Given the description of an element on the screen output the (x, y) to click on. 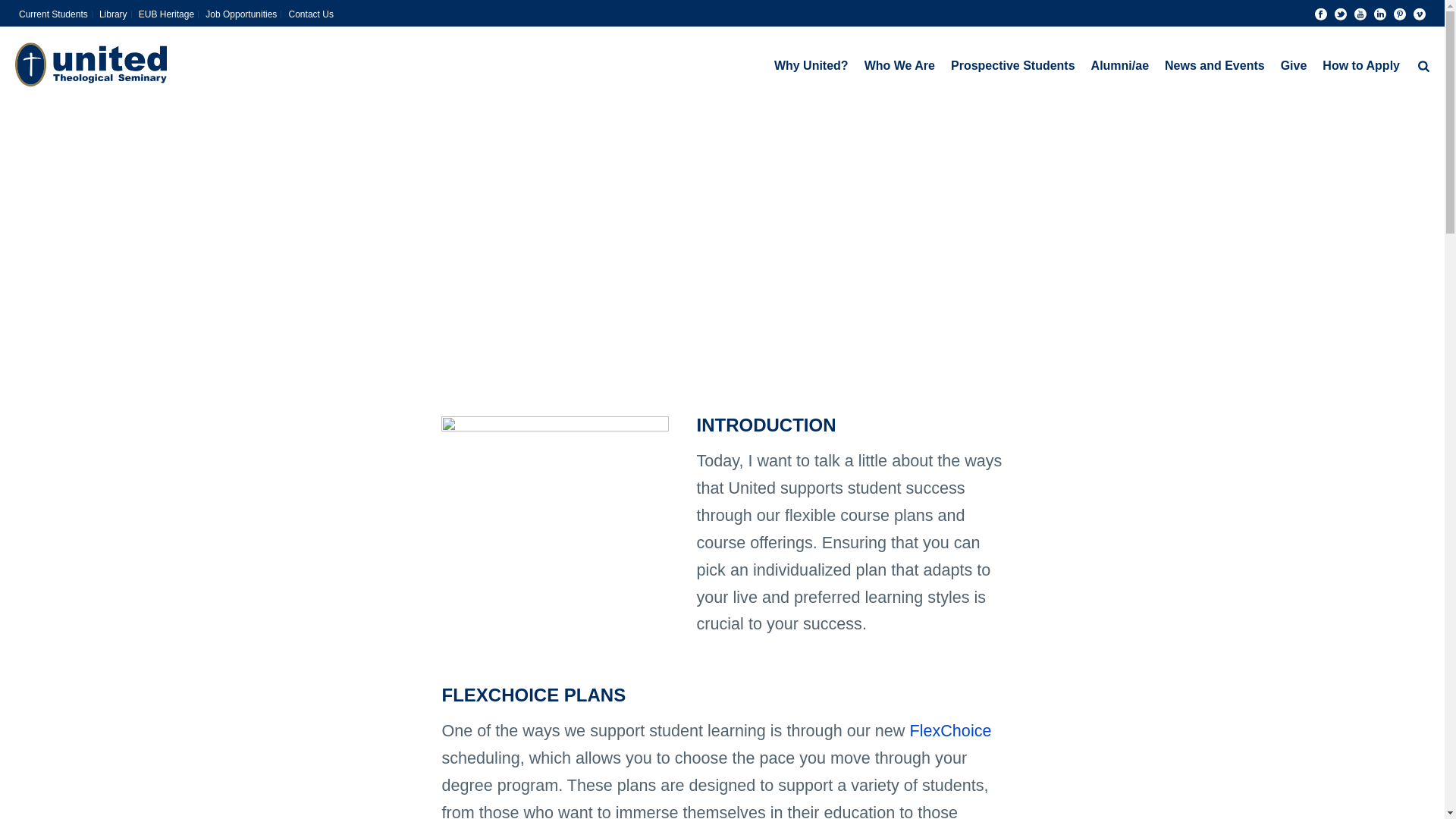
Contact Us (311, 14)
Why United? (811, 64)
Library (114, 14)
Spirit led. Renewing the church. (90, 64)
Why United? (811, 64)
Who We Are (899, 64)
News and Events (1214, 64)
Current Students (53, 14)
How to Apply (1360, 64)
Who We Are (899, 64)
EUB Heritage (166, 14)
Prospective Students (1013, 64)
Job Opportunities (241, 14)
